Given the description of an element on the screen output the (x, y) to click on. 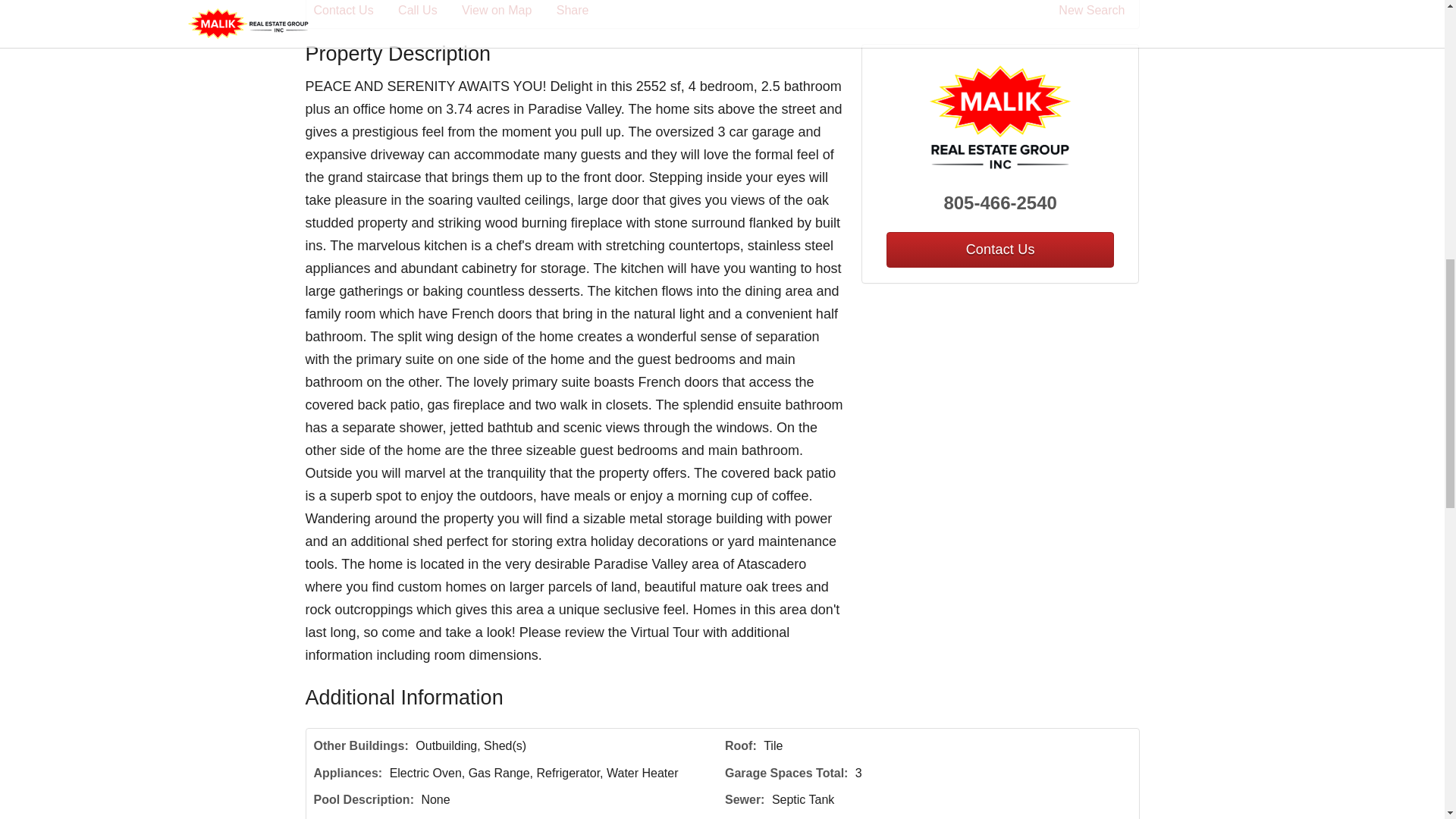
New Search (1094, 11)
Share (583, 11)
Call Us (427, 11)
Contact Us (354, 11)
View on Map (507, 11)
